Given the description of an element on the screen output the (x, y) to click on. 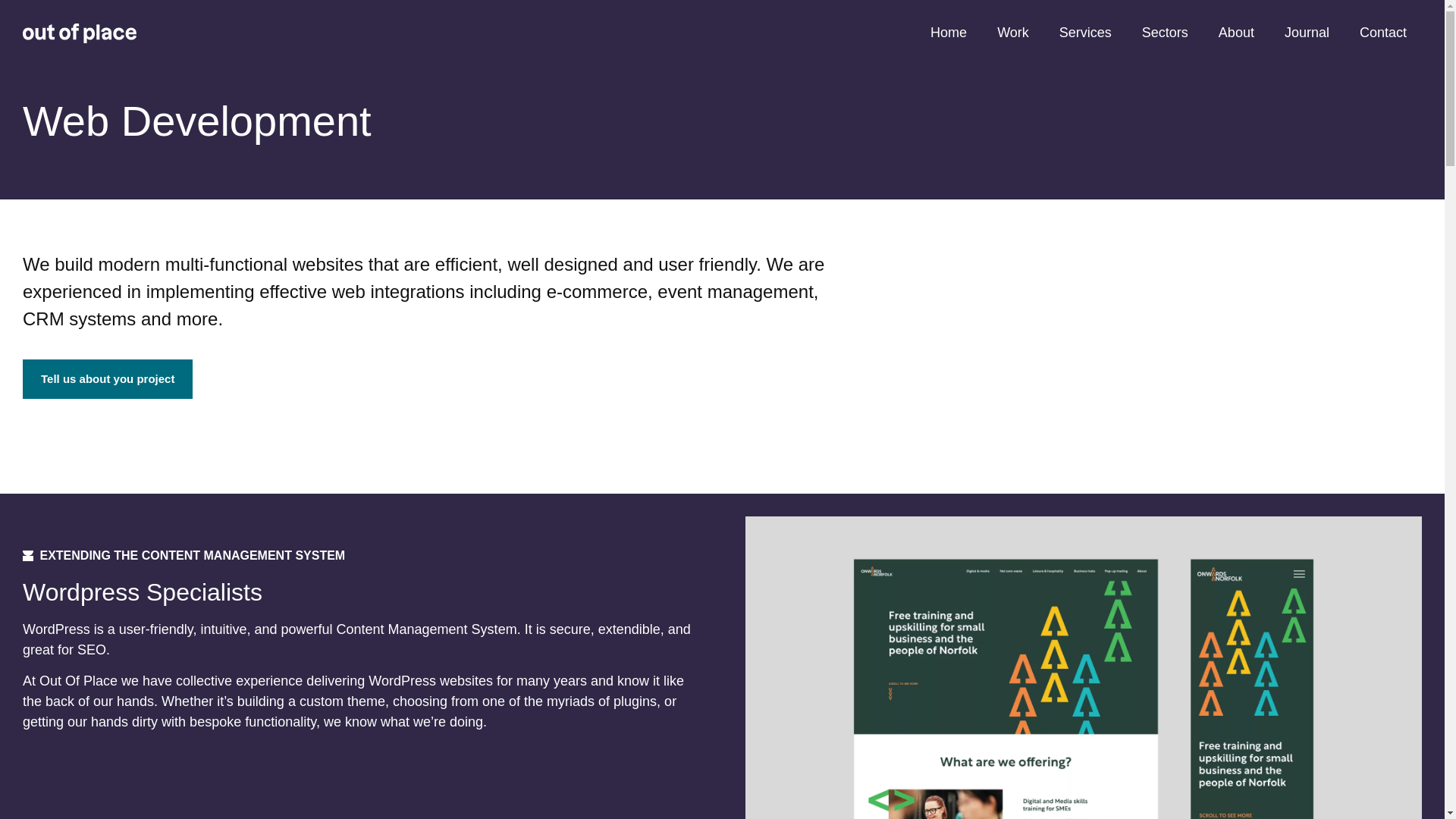
Tell us about you project (107, 378)
Services (1084, 32)
Contact (1382, 32)
Work (1012, 32)
About (1236, 32)
Journal (1306, 32)
Home (948, 32)
Sectors (1165, 32)
